Given the description of an element on the screen output the (x, y) to click on. 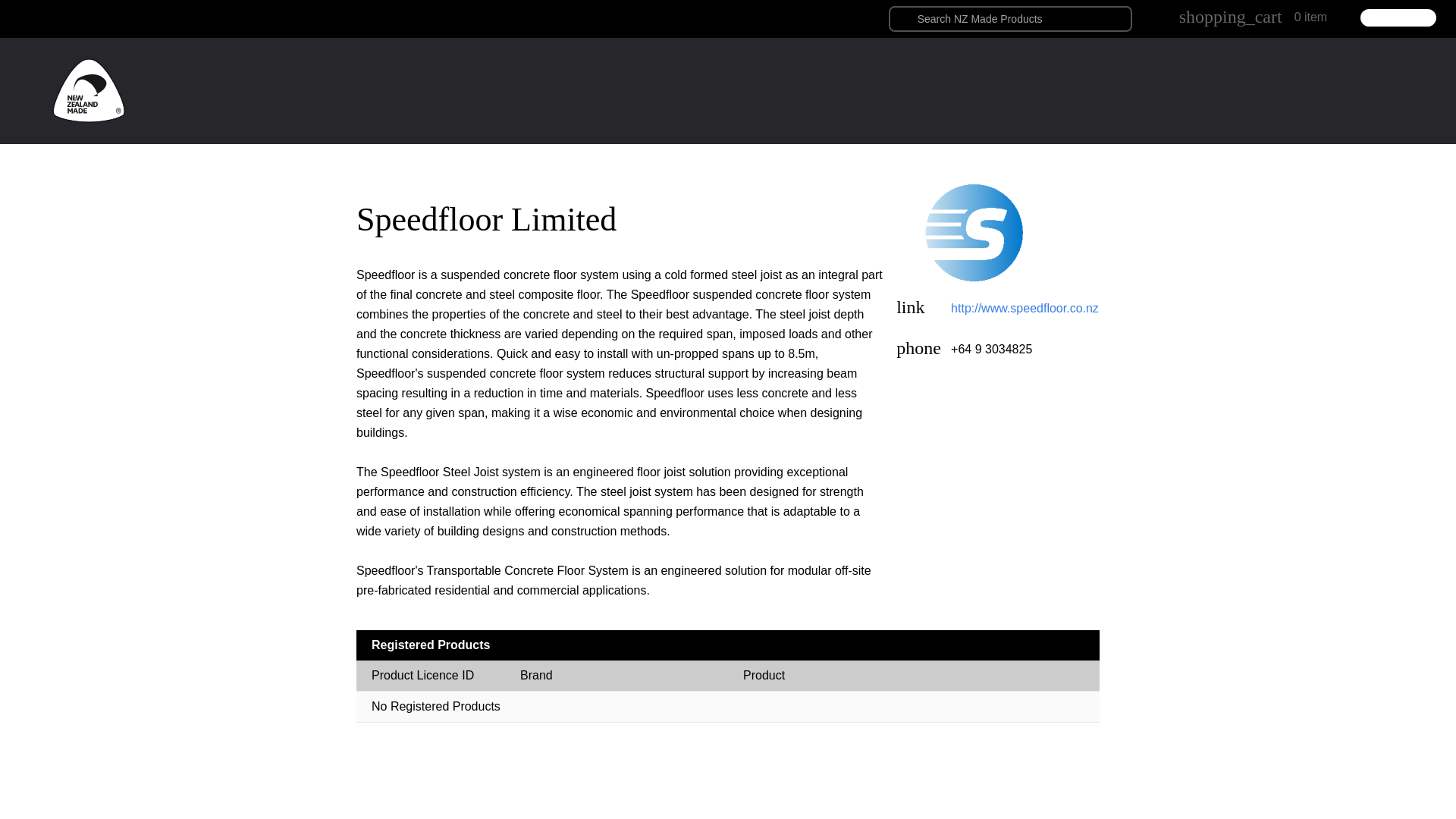
LOGIN (1397, 17)
Login (880, 205)
0 item (1310, 16)
Search NZ Made Products (1010, 18)
